Given the description of an element on the screen output the (x, y) to click on. 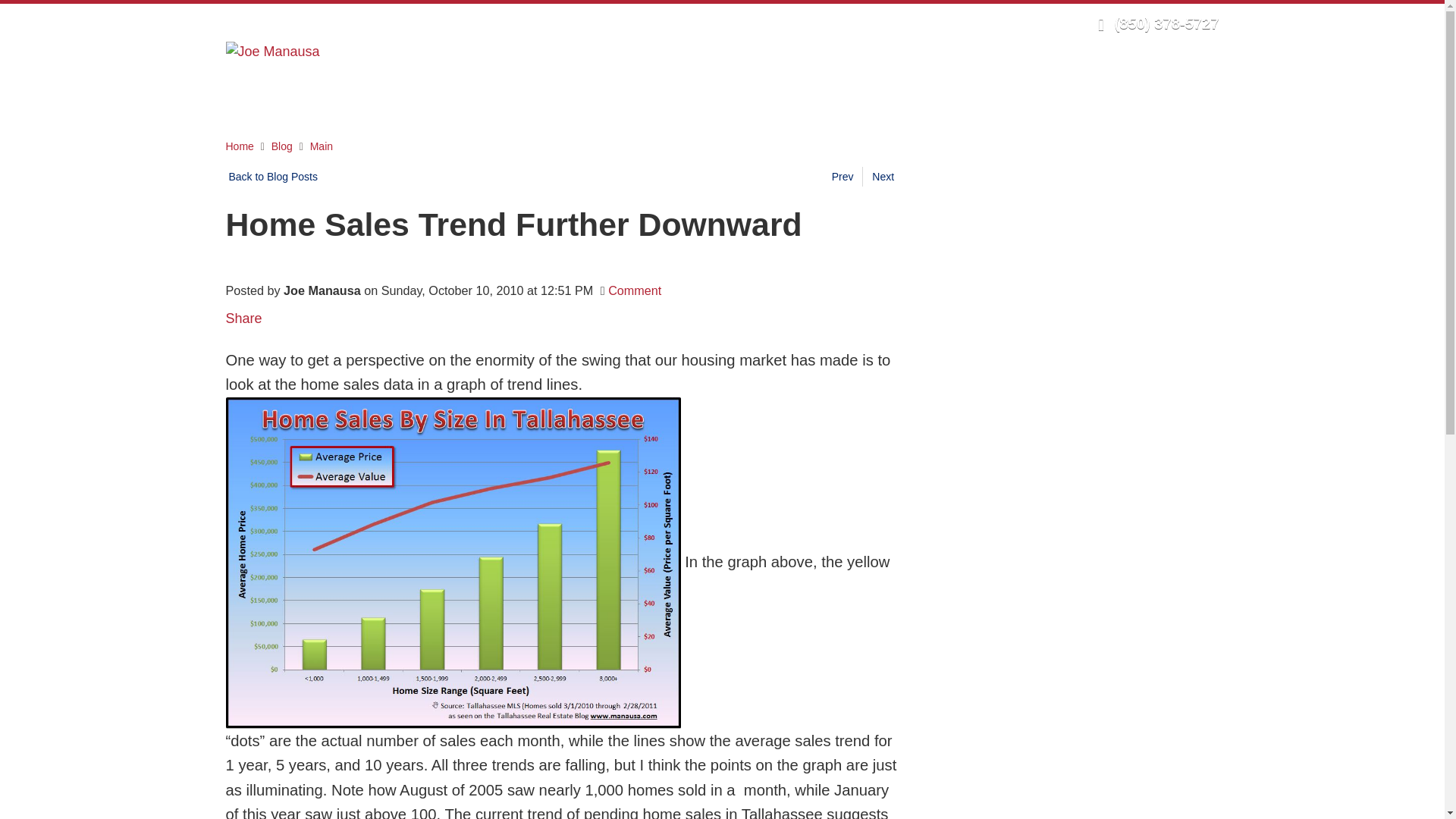
Login (904, 23)
Register (953, 23)
Select Language (1038, 23)
Home Page (272, 50)
